Given the description of an element on the screen output the (x, y) to click on. 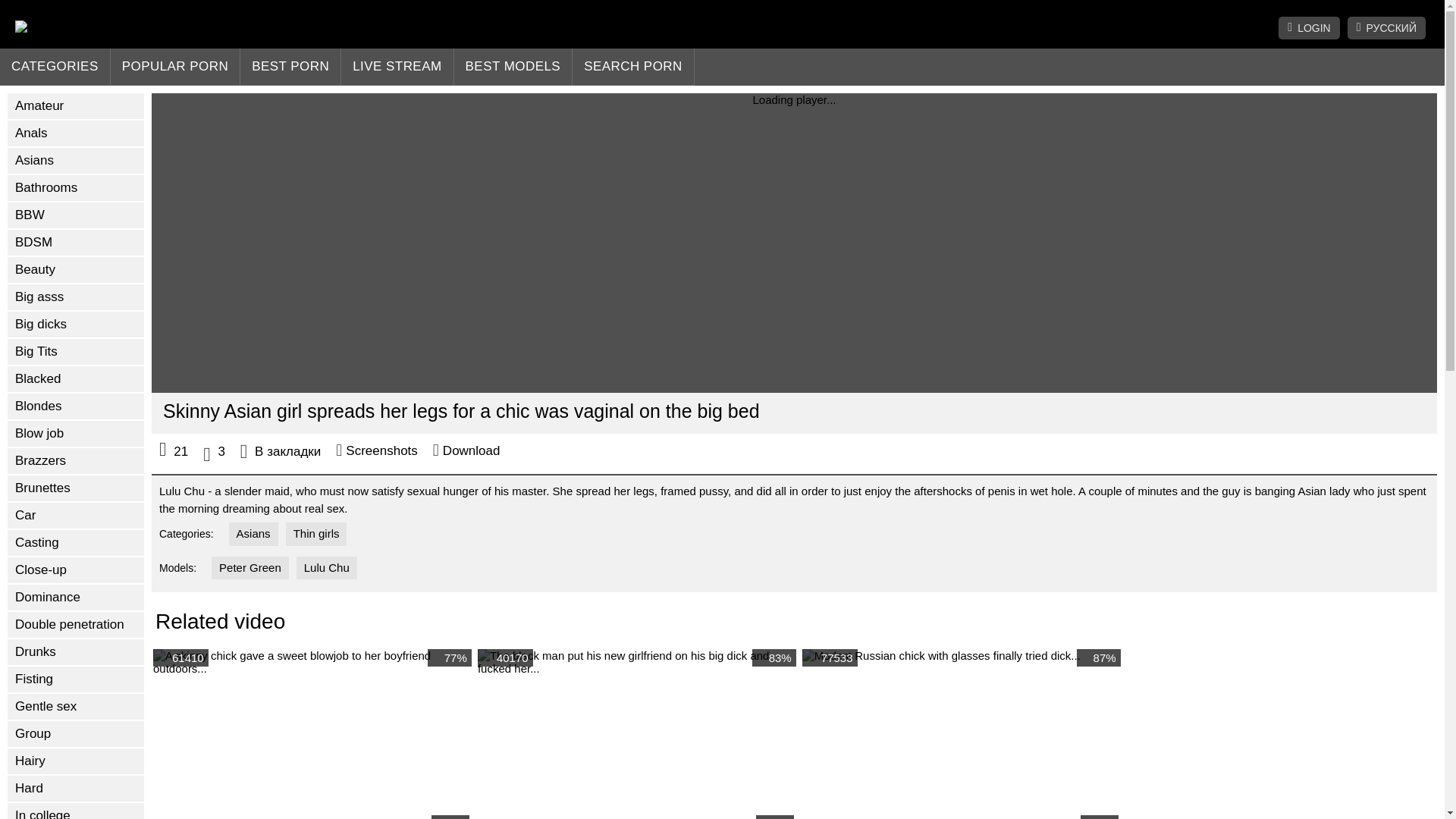
Brazzers (75, 460)
CATEGORIES (55, 66)
Blondes (75, 406)
Group (75, 733)
Blacked (75, 379)
Big asss (75, 297)
Amateur (75, 105)
Blow job (75, 433)
Gentle sex (75, 706)
LIVE STREAM (396, 66)
